Given the description of an element on the screen output the (x, y) to click on. 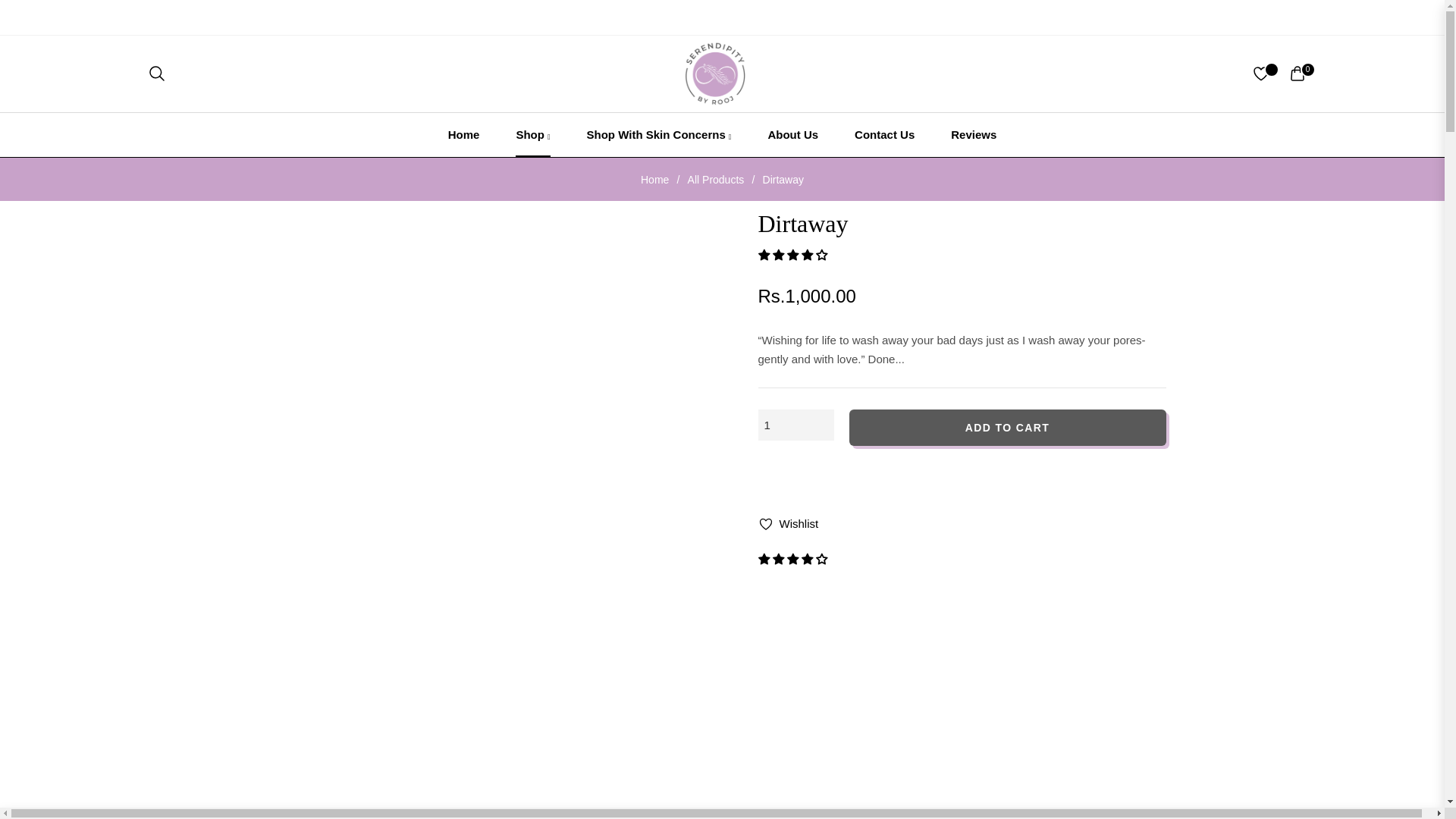
Shop With Skin Concerns (659, 135)
Wishlist (788, 523)
1 (796, 425)
Shop (532, 135)
Contact Us (884, 135)
Your Cart (1296, 73)
Reviews (973, 135)
Home (655, 179)
All Products (715, 179)
Home (463, 135)
